Given the description of an element on the screen output the (x, y) to click on. 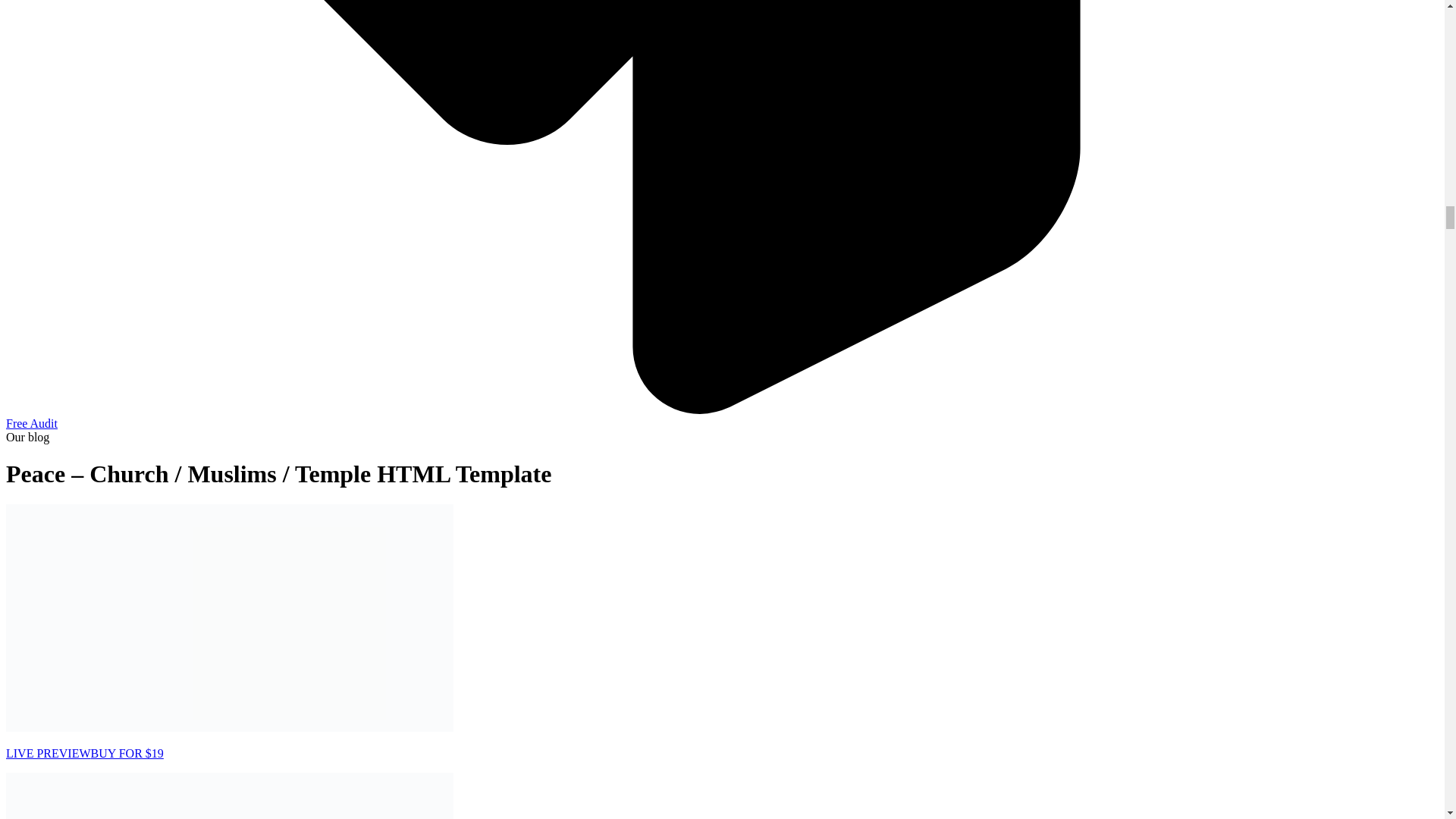
LIVE PREVIEW (47, 753)
